Given the description of an element on the screen output the (x, y) to click on. 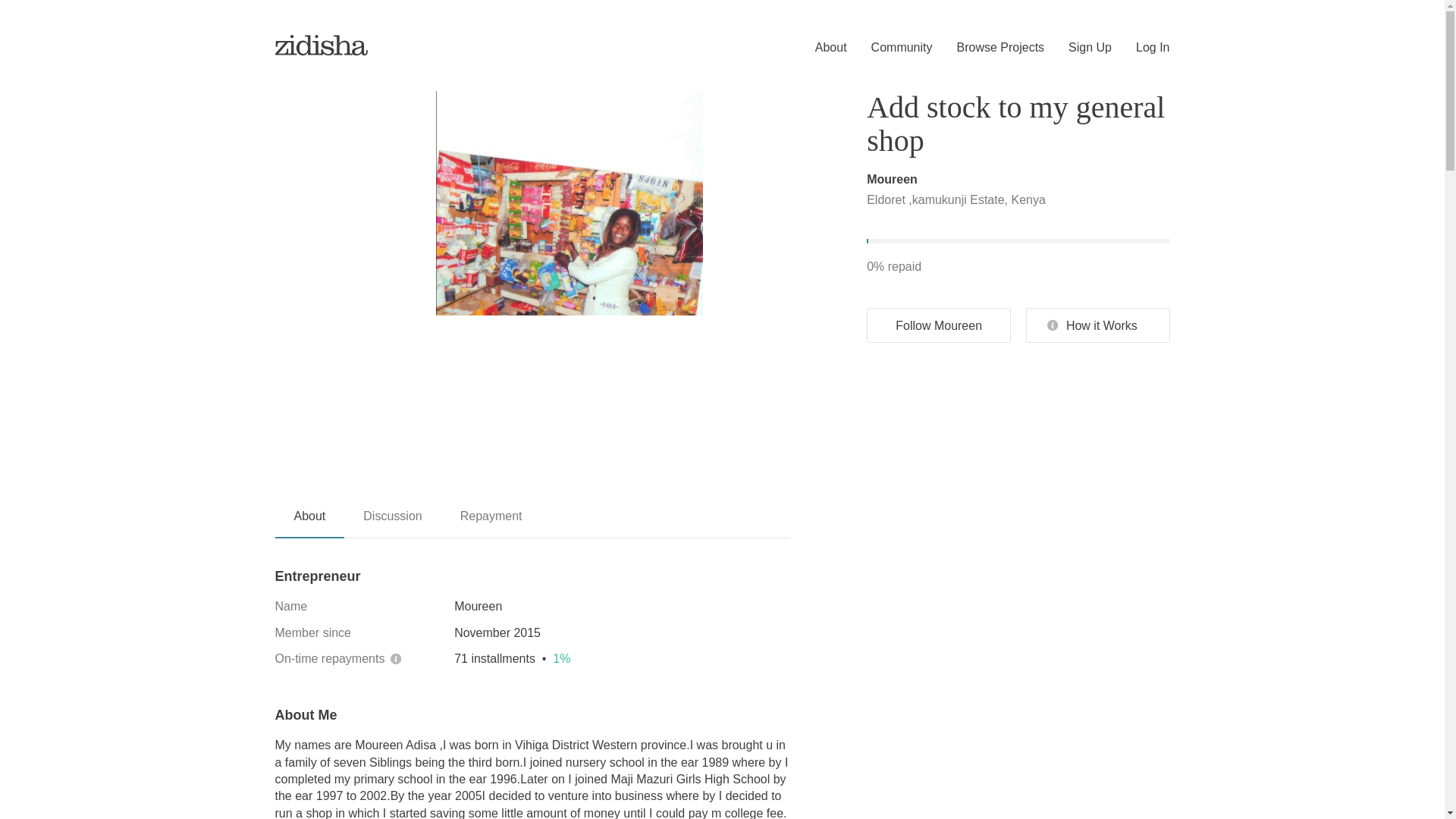
About (309, 522)
Log In (1140, 47)
How it Works (1098, 325)
Repayment (491, 521)
Discussion (392, 521)
About (818, 47)
Community (890, 47)
Sign Up (1077, 47)
Zidisha (321, 44)
Follow Moureen (938, 325)
Browse Projects (989, 47)
